Given the description of an element on the screen output the (x, y) to click on. 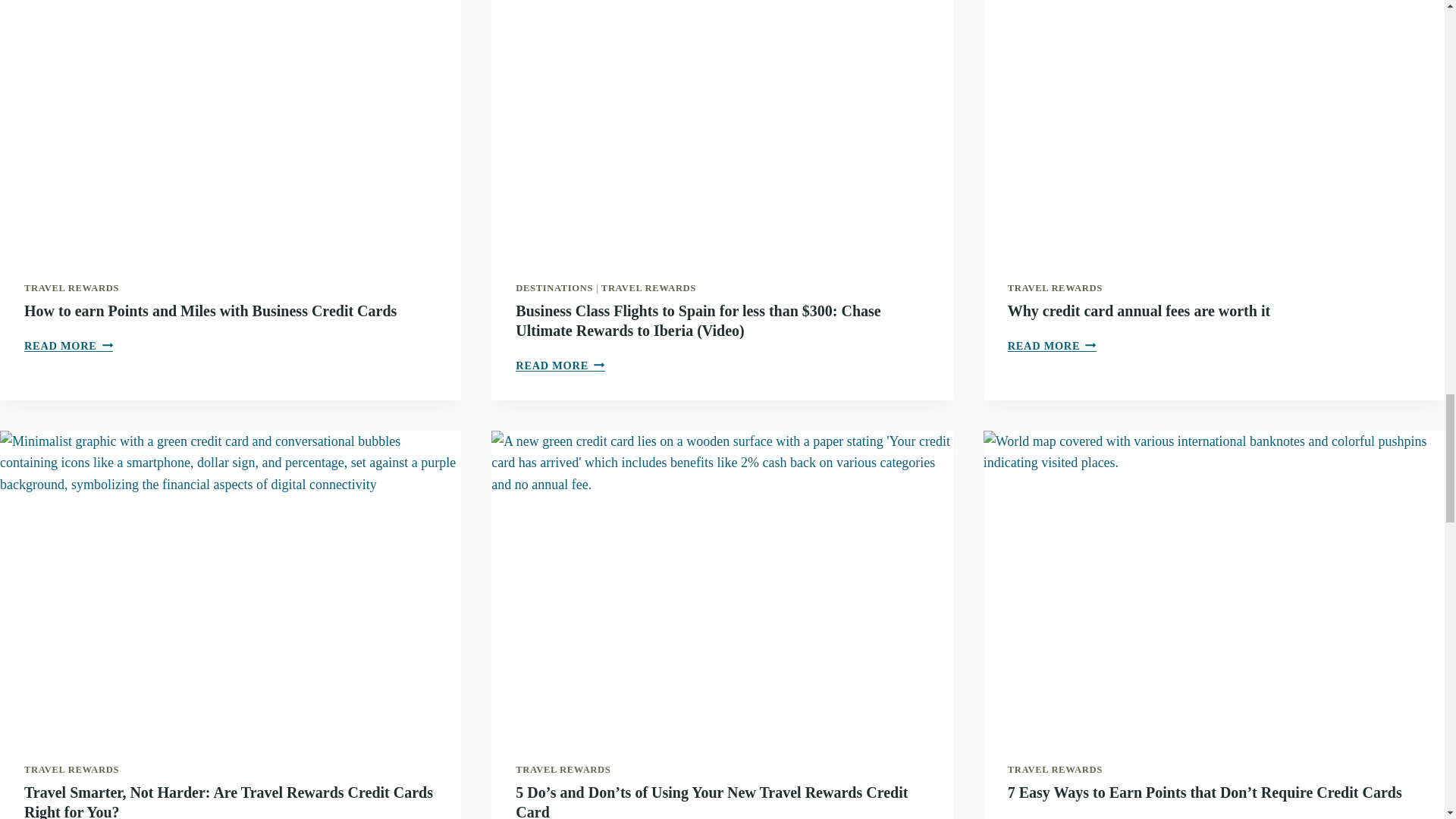
TRAVEL REWARDS (648, 287)
TRAVEL REWARDS (1054, 287)
TRAVEL REWARDS (562, 769)
Why credit card annual fees are worth it (1138, 310)
How to earn Points and Miles with Business Credit Cards (1051, 345)
TRAVEL REWARDS (210, 310)
DESTINATIONS (71, 769)
